Given the description of an element on the screen output the (x, y) to click on. 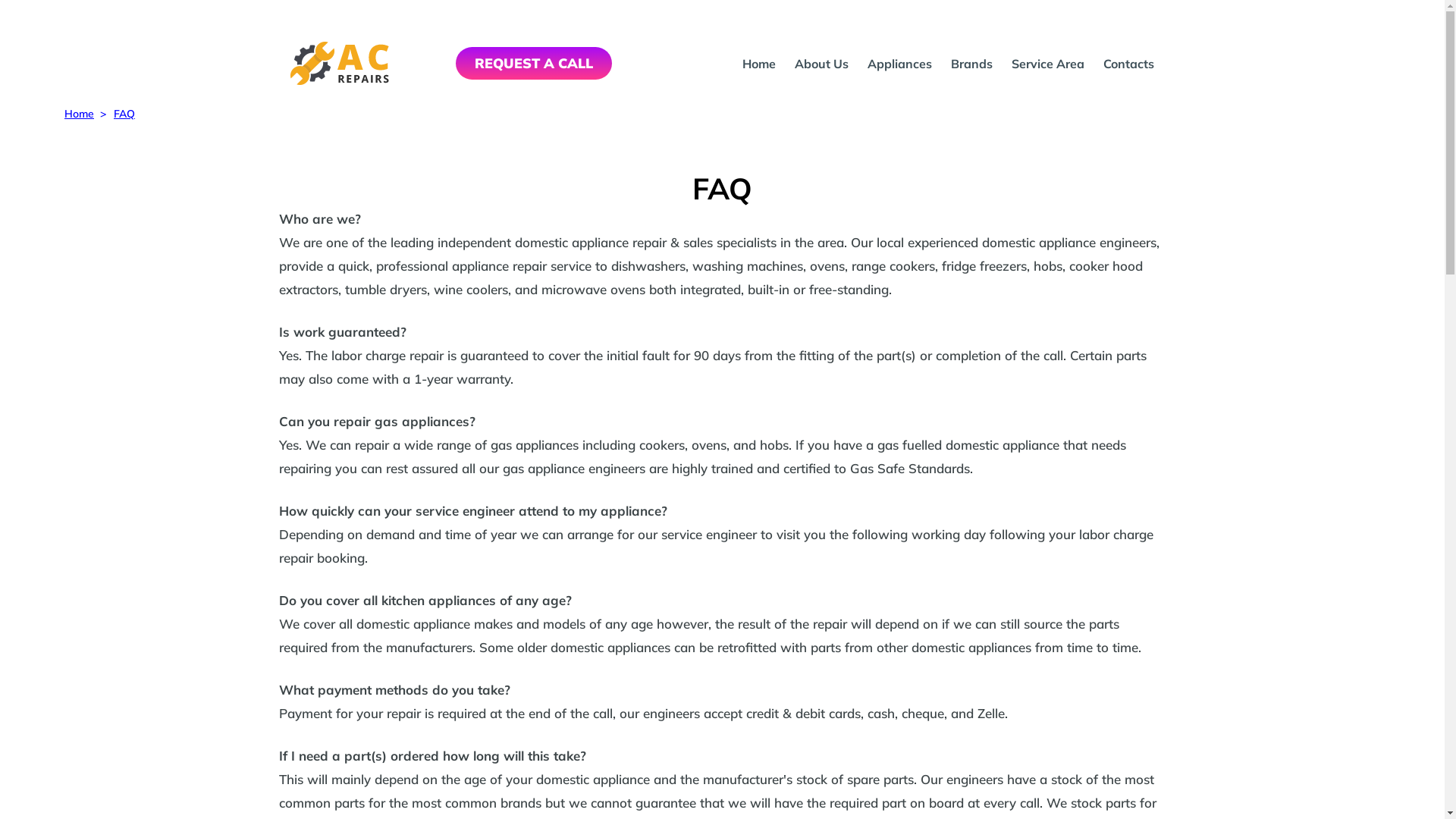
About Us Element type: text (821, 63)
Brands Element type: text (971, 63)
Home Element type: text (79, 113)
REQUEST A CALL Element type: text (533, 63)
Contacts Element type: text (1128, 63)
Home Element type: text (758, 63)
Service Area Element type: text (1047, 63)
FAQ Element type: text (123, 113)
Appliances Element type: text (899, 63)
